Given the description of an element on the screen output the (x, y) to click on. 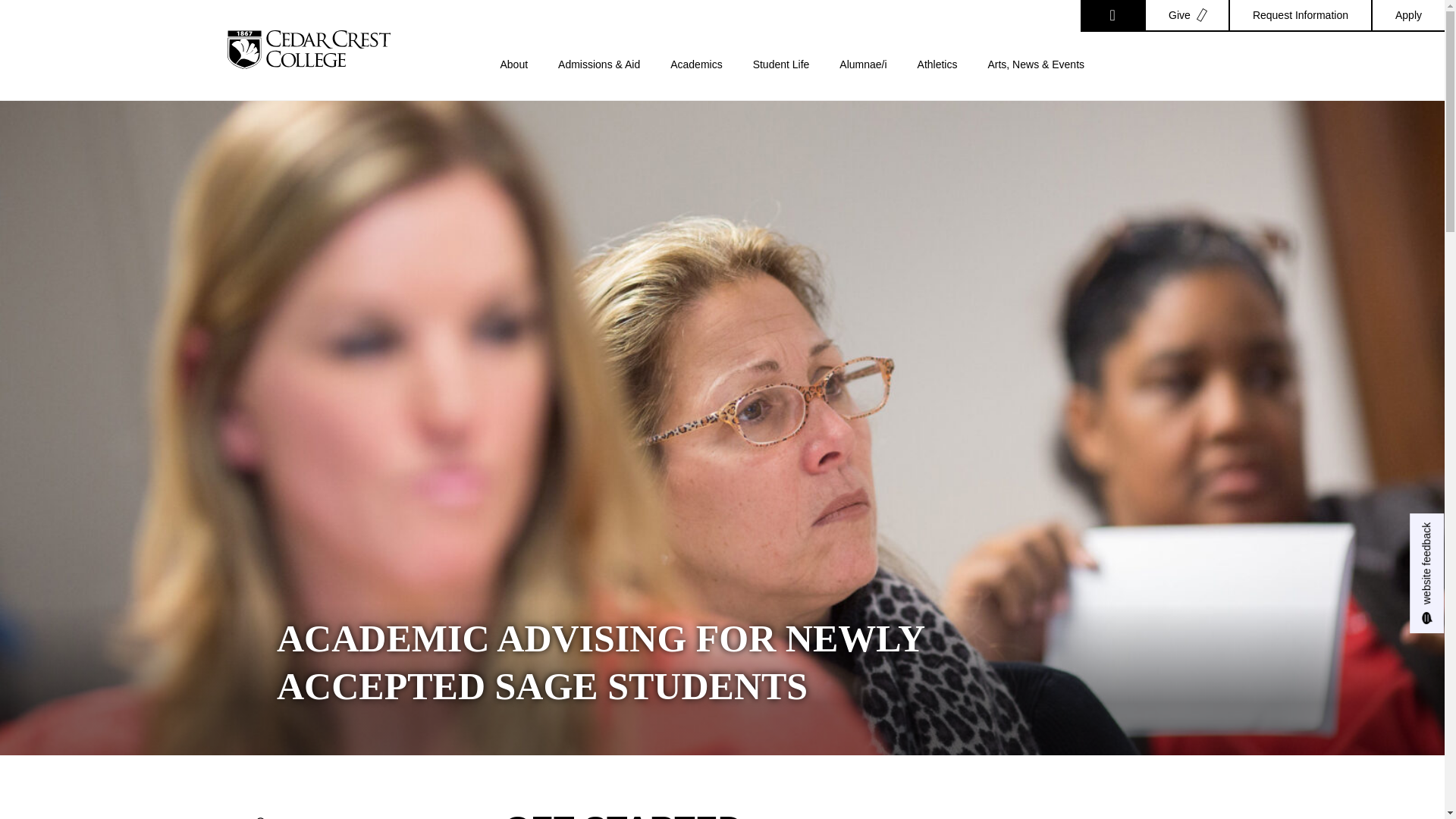
About (513, 78)
Search (1112, 15)
Cedar Crest College (308, 49)
Academics (695, 78)
